Given the description of an element on the screen output the (x, y) to click on. 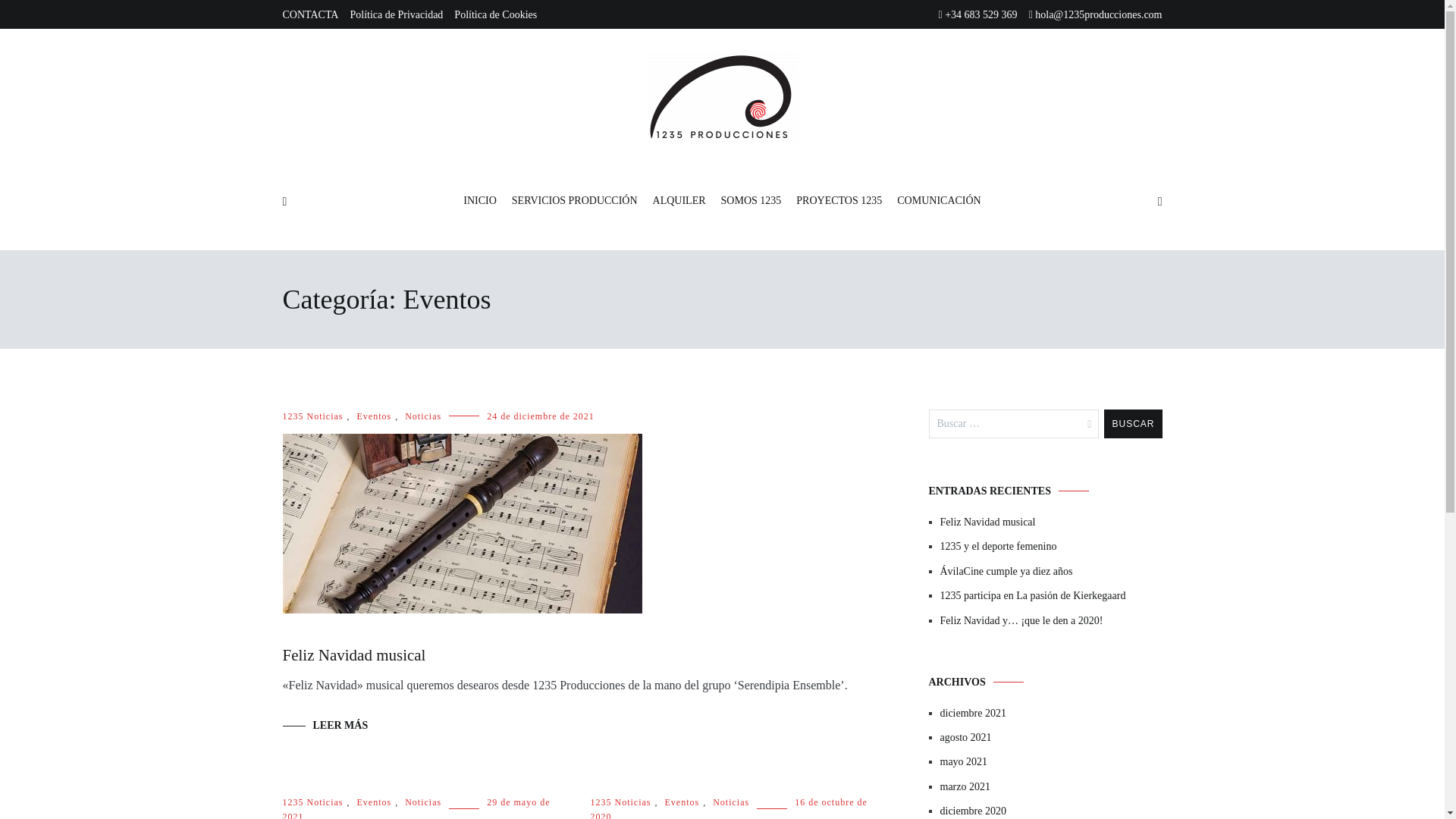
Eventos Element type: text (373, 416)
INICIO Element type: text (479, 201)
hola@1235producciones.com Element type: text (1095, 14)
agosto 2021 Element type: text (1051, 737)
Buscar Element type: text (43, 16)
Noticias Element type: text (422, 416)
+34 683 529 369 Element type: text (977, 14)
SOMOS 1235 Element type: text (751, 201)
marzo 2021 Element type: text (1051, 786)
1235 Noticias Element type: text (312, 802)
Eventos Element type: text (681, 802)
Buscar Element type: text (1132, 423)
PROYECTOS 1235 Element type: text (838, 201)
1235 Noticias Element type: text (619, 802)
Eventos Element type: text (373, 802)
1235 y el deporte femenino Element type: text (1051, 546)
Noticias Element type: text (730, 802)
CONTACTA Element type: text (310, 14)
Feliz Navidad musical Element type: text (1051, 522)
Noticias Element type: text (422, 802)
1235 Noticias Element type: text (312, 416)
24 de diciembre de 2021 Element type: text (540, 416)
Feliz Navidad musical Element type: text (353, 655)
mayo 2021 Element type: text (1051, 761)
ALQUILER Element type: text (679, 201)
diciembre 2021 Element type: text (1051, 713)
|1235 Producciones| Element type: text (723, 182)
